Given the description of an element on the screen output the (x, y) to click on. 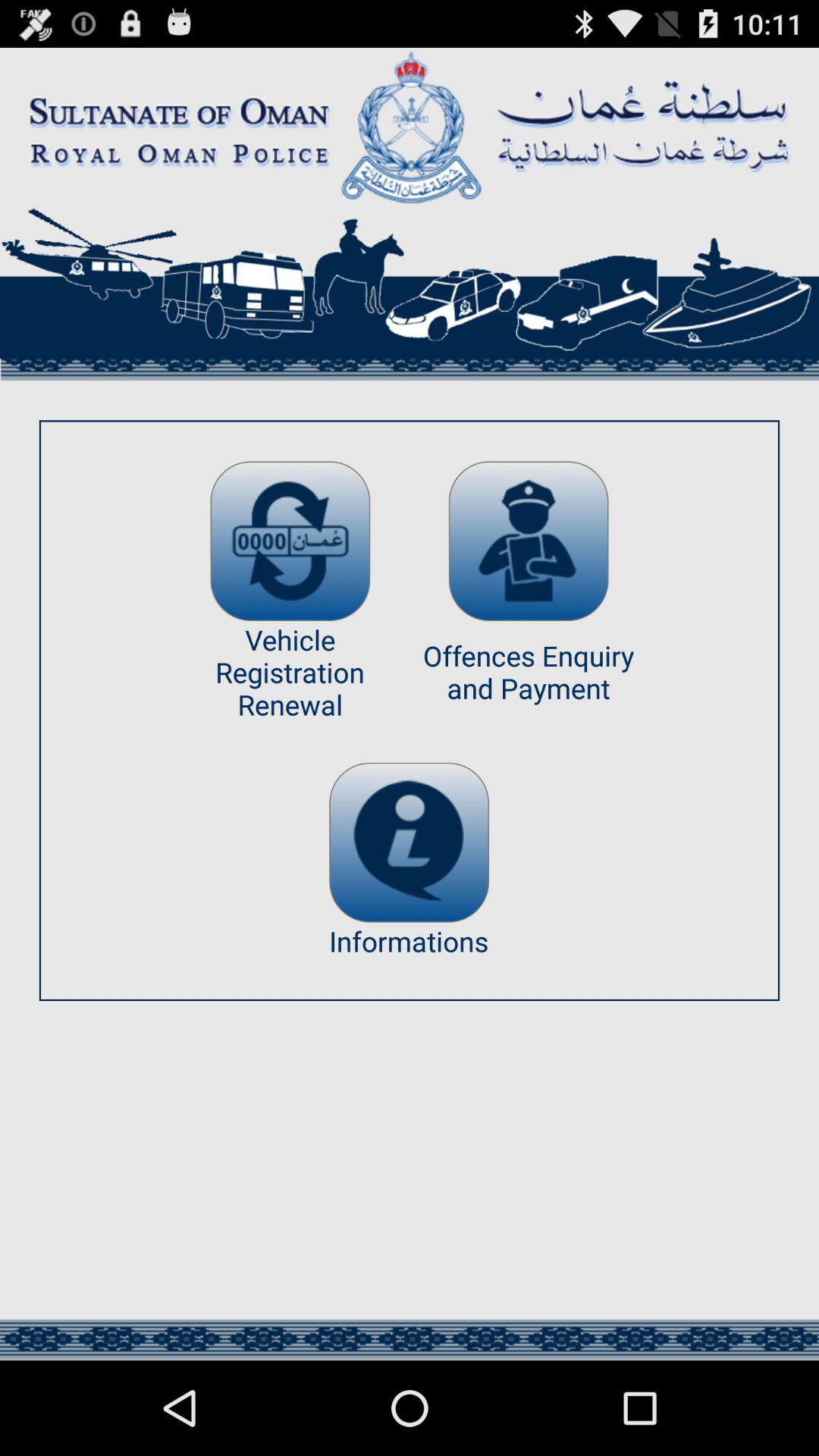
launch icon next to the vehicle registration renewal item (528, 541)
